Given the description of an element on the screen output the (x, y) to click on. 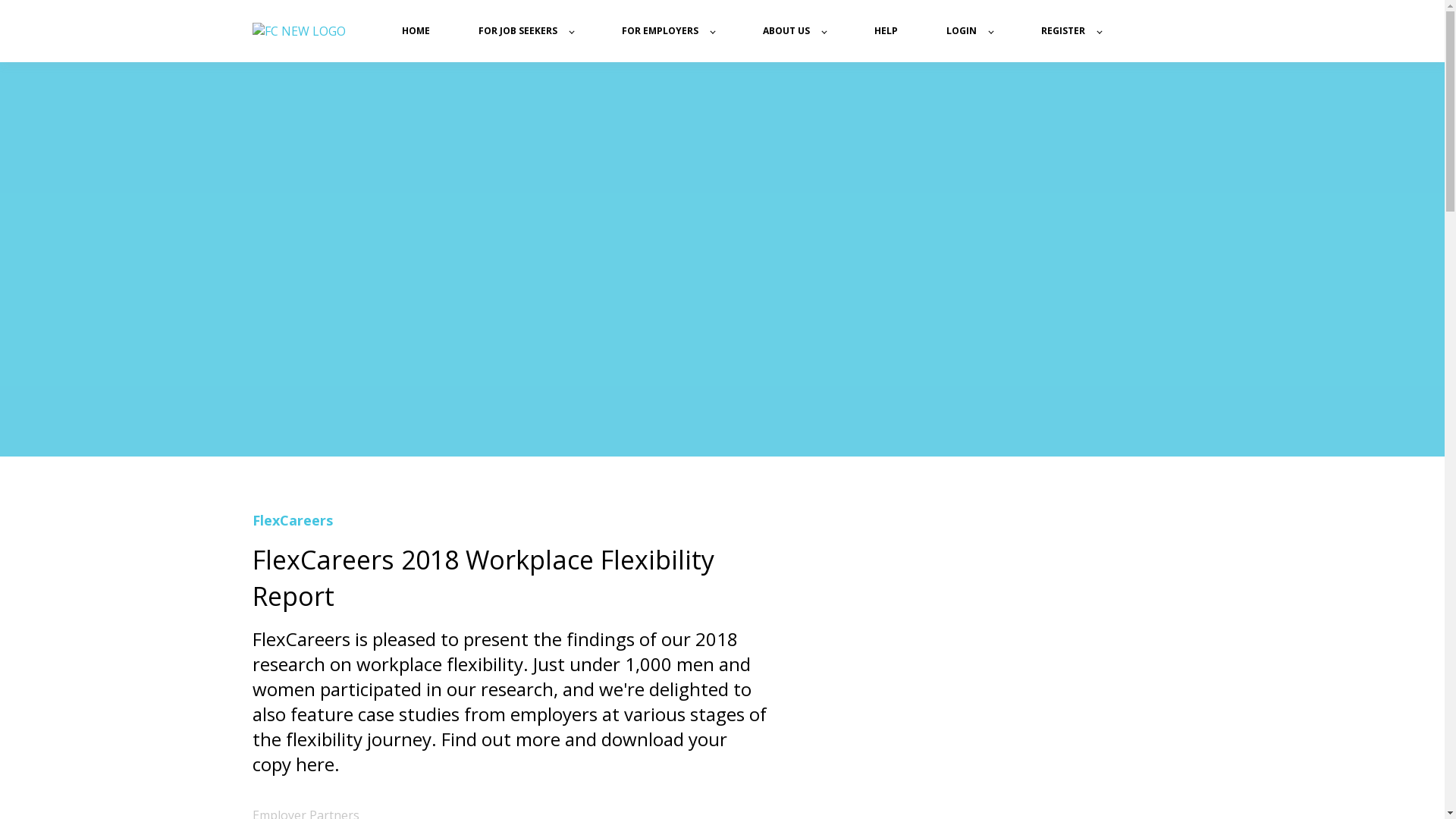
FOR EMPLOYERS Element type: text (667, 30)
FOR JOB SEEKERS Element type: text (524, 30)
HOME Element type: text (415, 30)
ABOUT US Element type: text (793, 30)
HELP Element type: text (885, 30)
REGISTER Element type: text (1070, 30)
LOGIN Element type: text (969, 30)
